Given the description of an element on the screen output the (x, y) to click on. 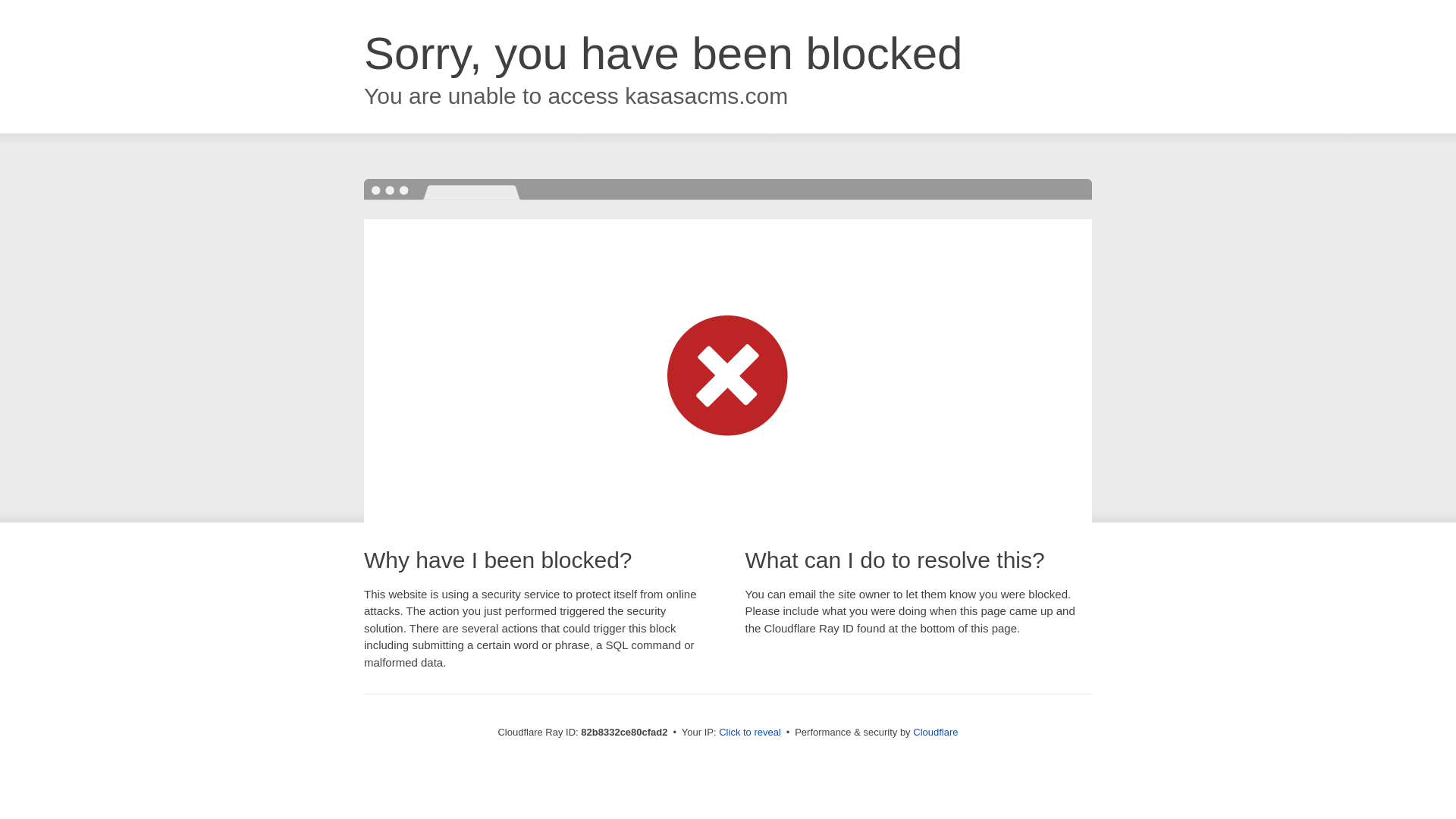
Click to reveal Element type: text (749, 732)
Cloudflare Element type: text (935, 731)
